Given the description of an element on the screen output the (x, y) to click on. 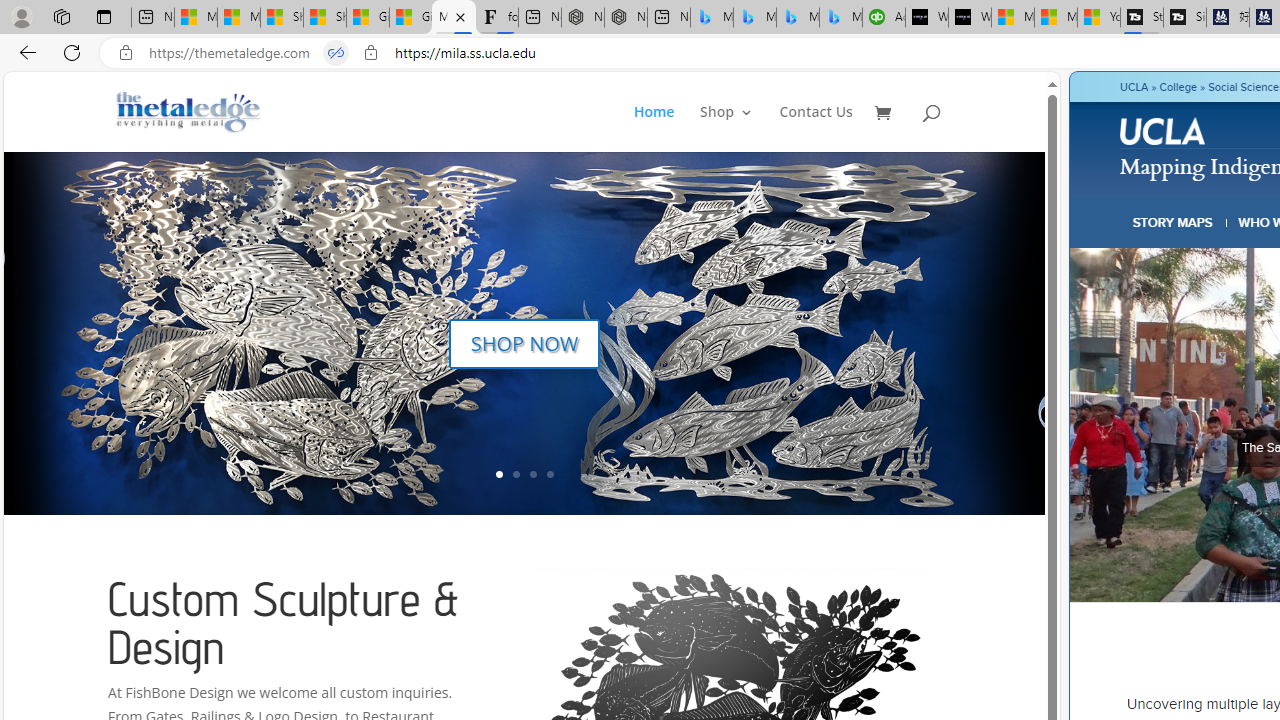
UCLA logo (1162, 130)
STORY MAPS (1173, 222)
Shop3 (737, 128)
Mapping Indigenous LA (453, 17)
Microsoft Bing Travel - Stays in Bangkok, Bangkok, Thailand (754, 17)
Metal Fish Sculptures & Metal Designs (189, 111)
1 (499, 474)
4 (550, 474)
Accounting Software for Accountants, CPAs and Bookkeepers (883, 17)
Shop 3 (726, 128)
